Given the description of an element on the screen output the (x, y) to click on. 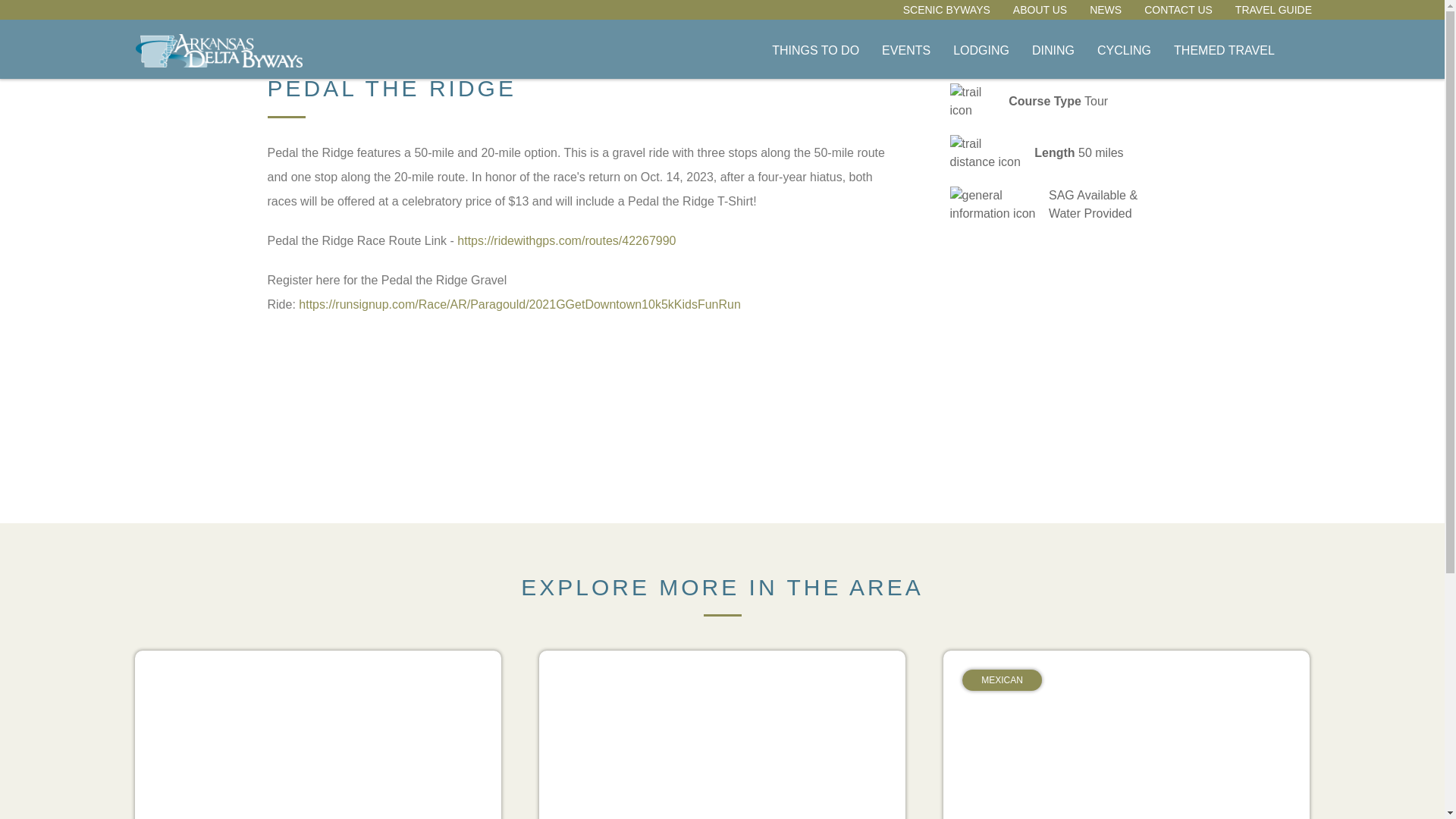
Learn more about Cycling (1124, 50)
Learn more about Lodging (981, 50)
Learn more about Things To Do (721, 734)
Return to homepage. (815, 50)
Learn more about Dining (218, 50)
THINGS TO DO (1053, 50)
SCENIC BYWAYS (815, 50)
CONTACT US (946, 9)
Learn more about Crowley's Ridge Raceway (1178, 9)
